Given the description of an element on the screen output the (x, y) to click on. 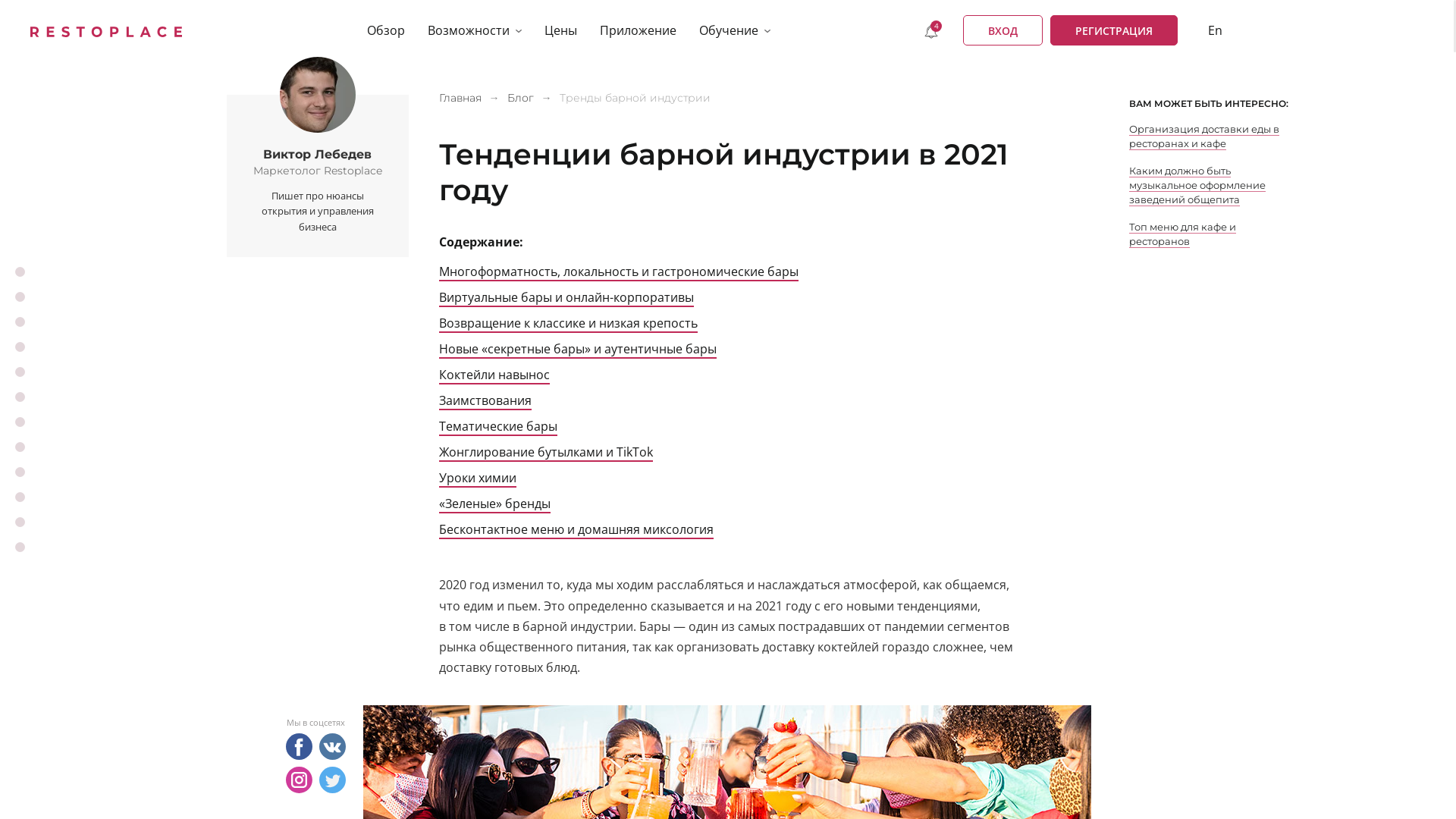
En Element type: text (1215, 29)
